Given the description of an element on the screen output the (x, y) to click on. 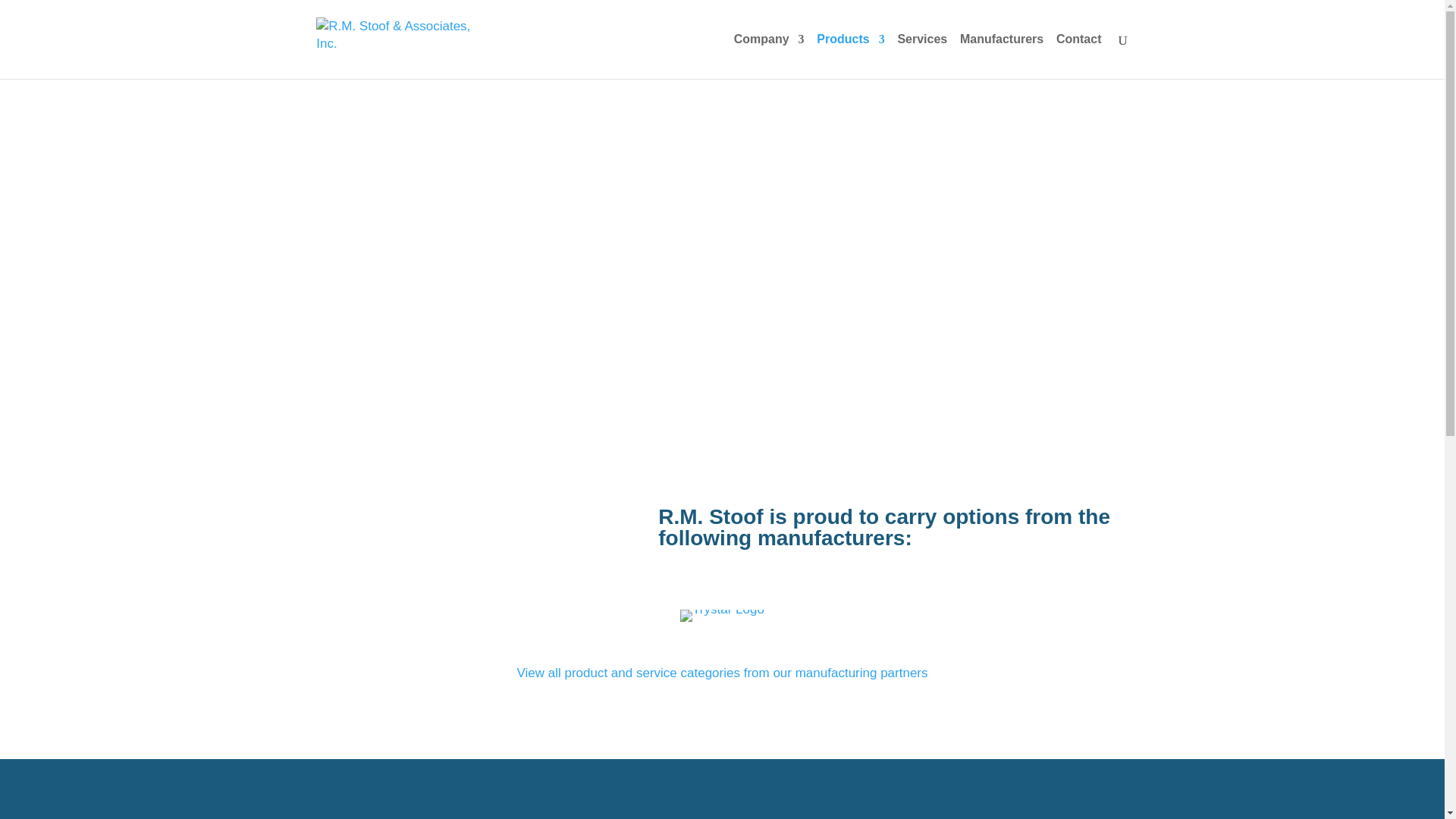
Manufacturers (1001, 56)
logo-controlled-power-company (721, 615)
Company (769, 56)
Contact (1079, 56)
Products (849, 56)
Services (921, 56)
